Given the description of an element on the screen output the (x, y) to click on. 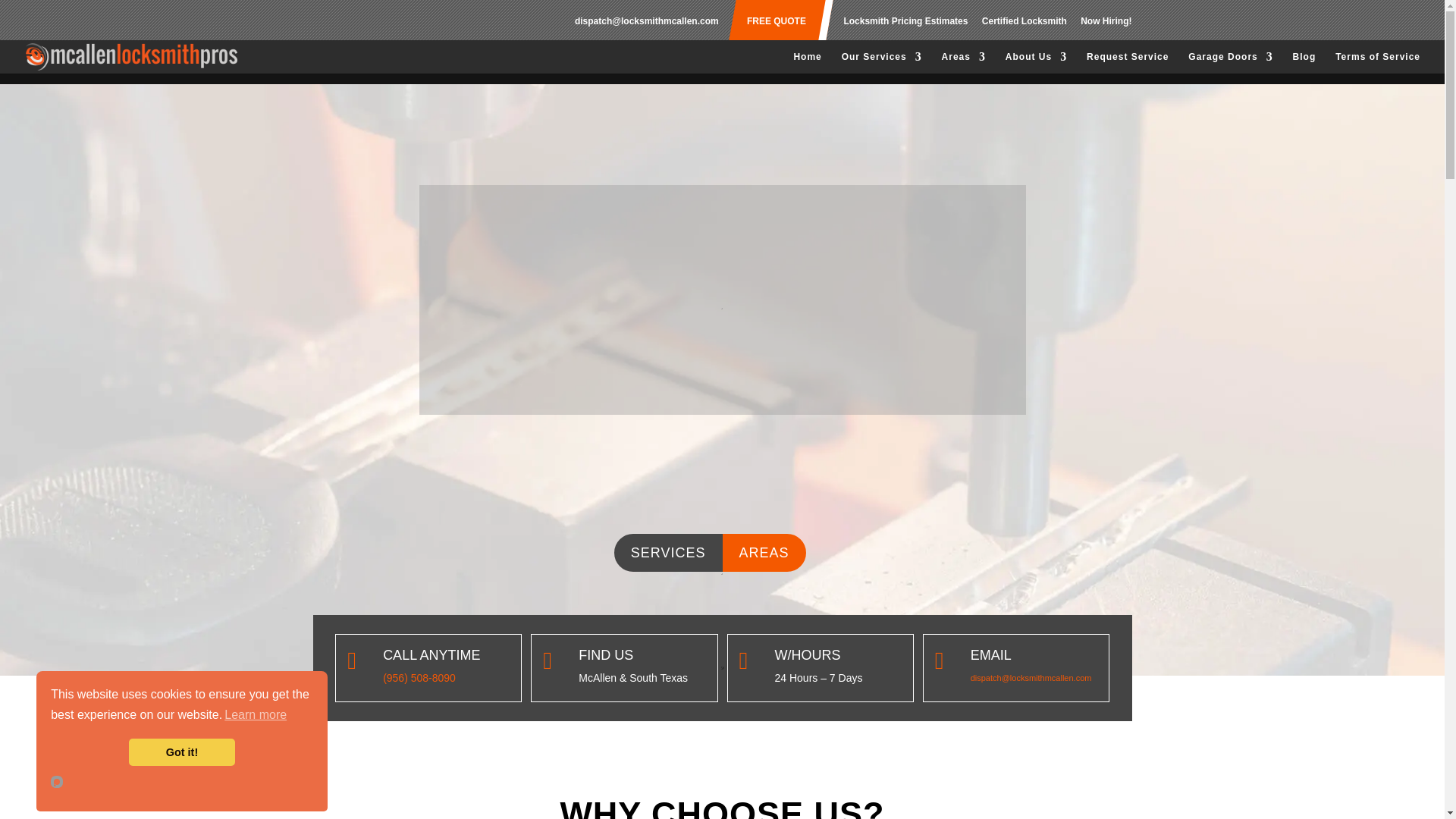
Home (807, 62)
FREE QUOTE (776, 24)
Locksmith Pricing Estimates (905, 24)
Our Services (881, 62)
Now Hiring! (1105, 24)
Certified Locksmith (1024, 24)
